Given the description of an element on the screen output the (x, y) to click on. 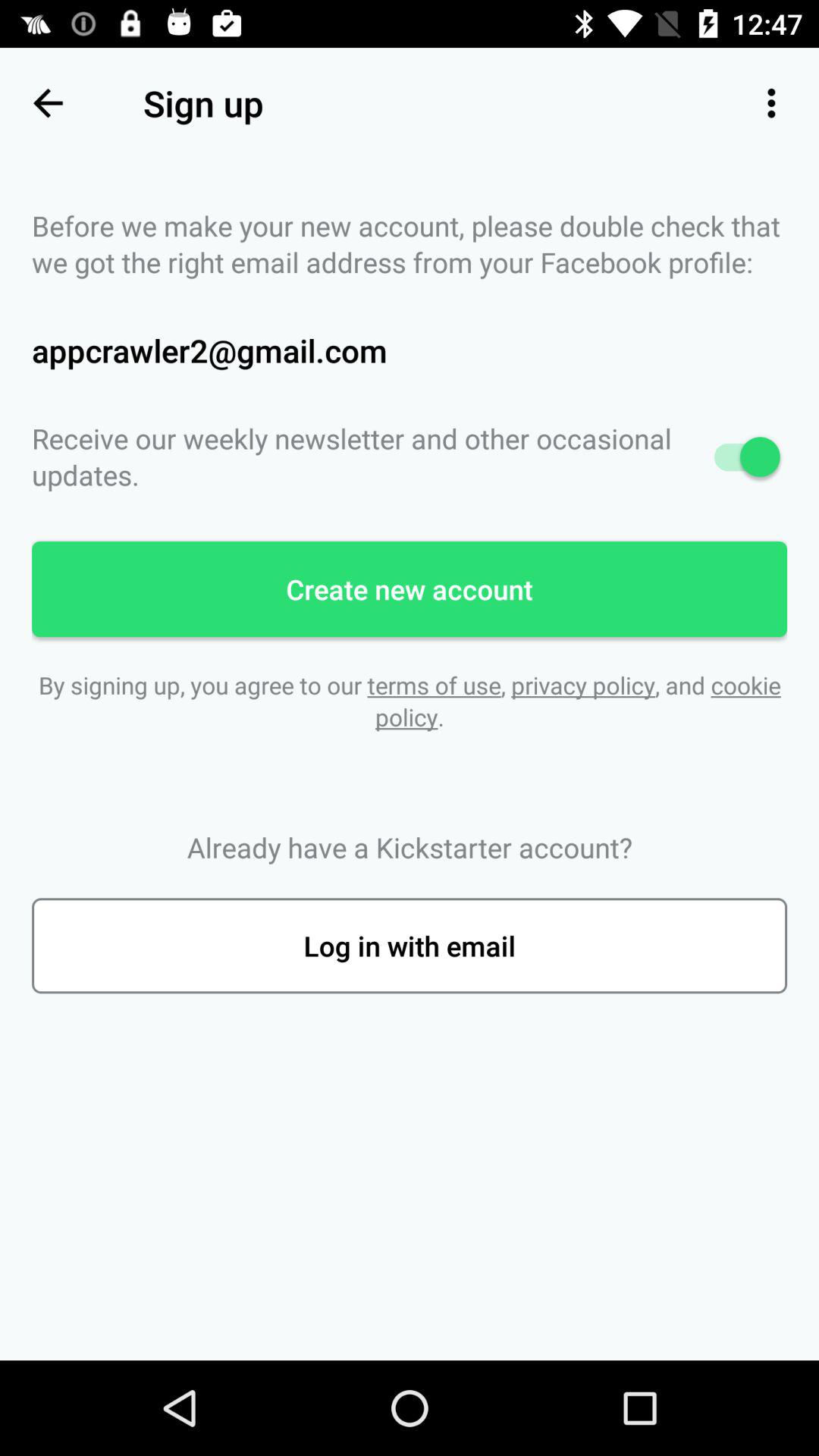
jump to the by signing up item (409, 700)
